Given the description of an element on the screen output the (x, y) to click on. 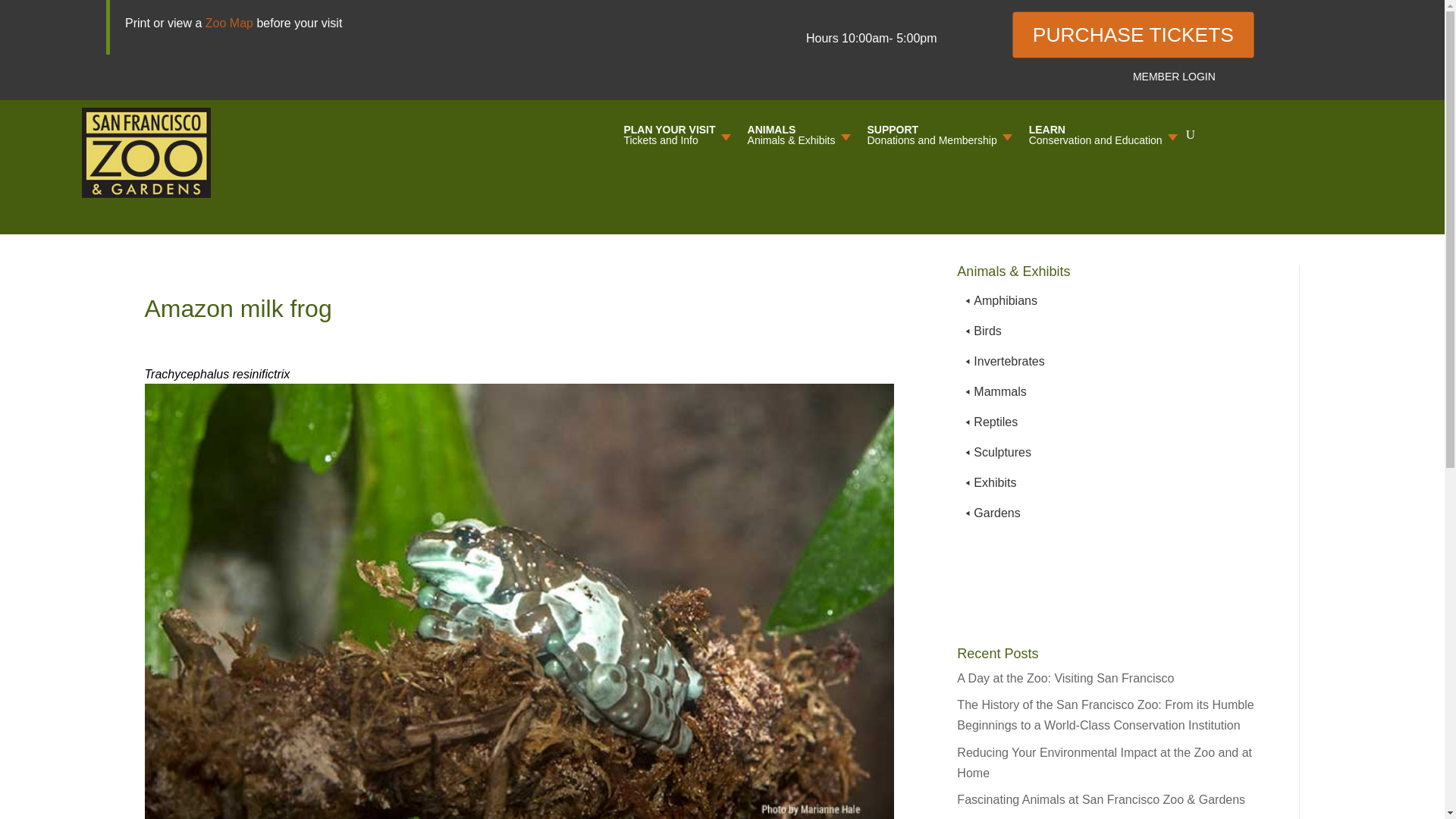
Amazon-Milk-Frog-MH-2 (676, 137)
sfz-logo (229, 22)
MEMBER LOGIN (146, 152)
PURCHASE TICKETS (1173, 76)
